Given the description of an element on the screen output the (x, y) to click on. 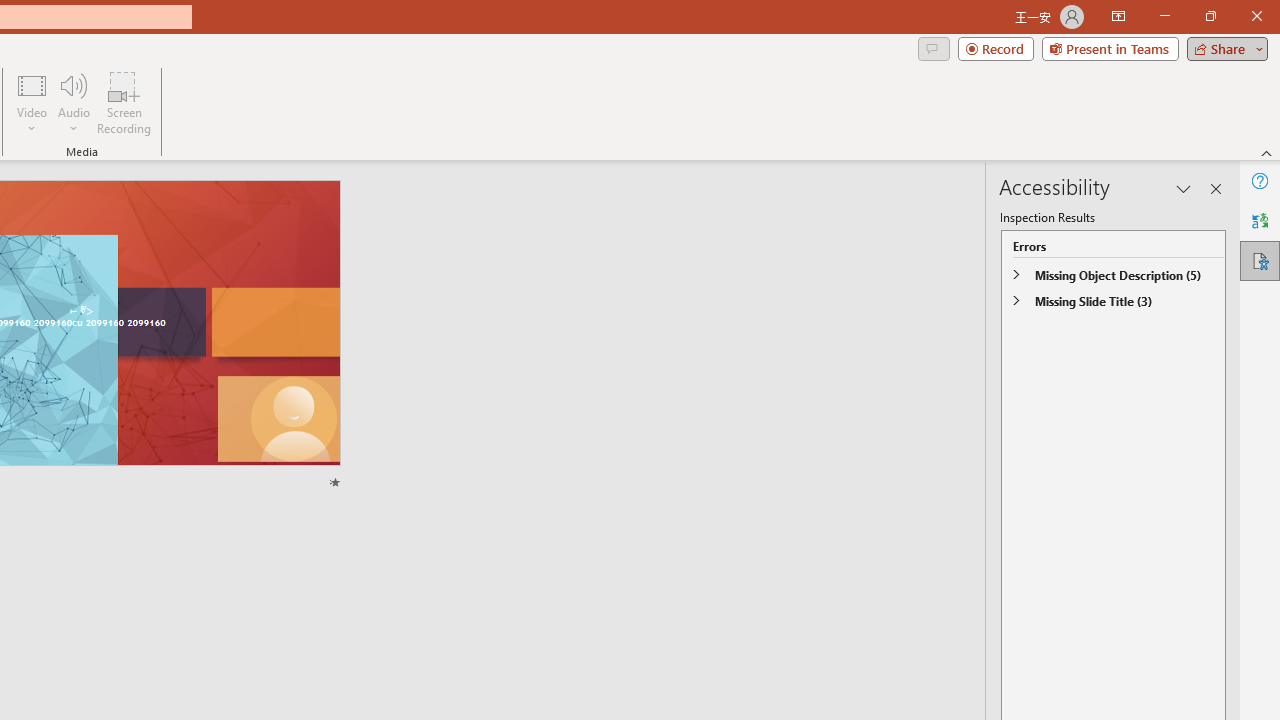
Video (31, 102)
Screen Recording... (123, 102)
